Given the description of an element on the screen output the (x, y) to click on. 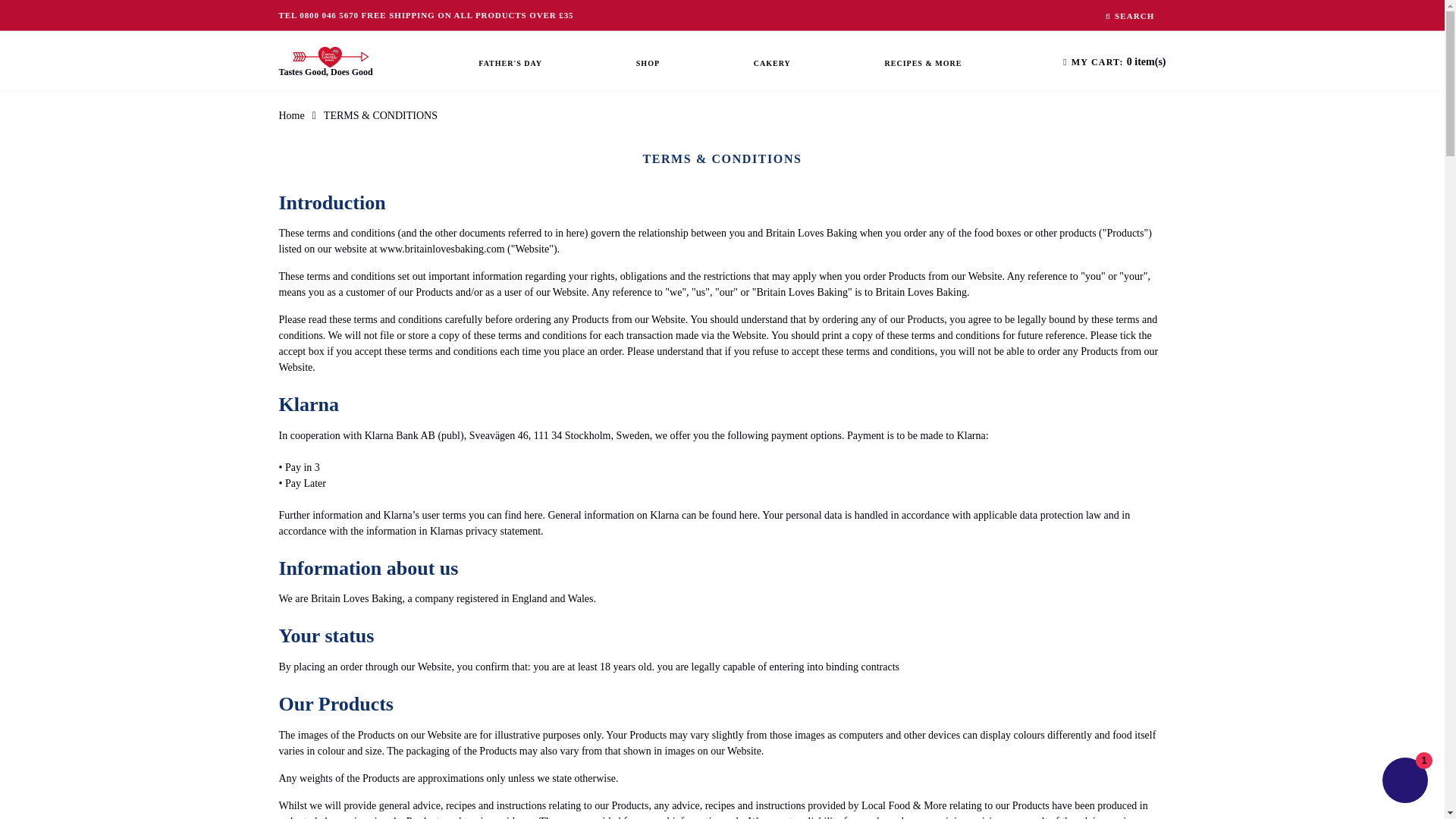
CAKERY (772, 63)
Shopify online store chat (1404, 781)
FATHER'S DAY (510, 63)
Home (291, 115)
SHOP (647, 63)
Tastes Good, Does Good (328, 60)
